Given the description of an element on the screen output the (x, y) to click on. 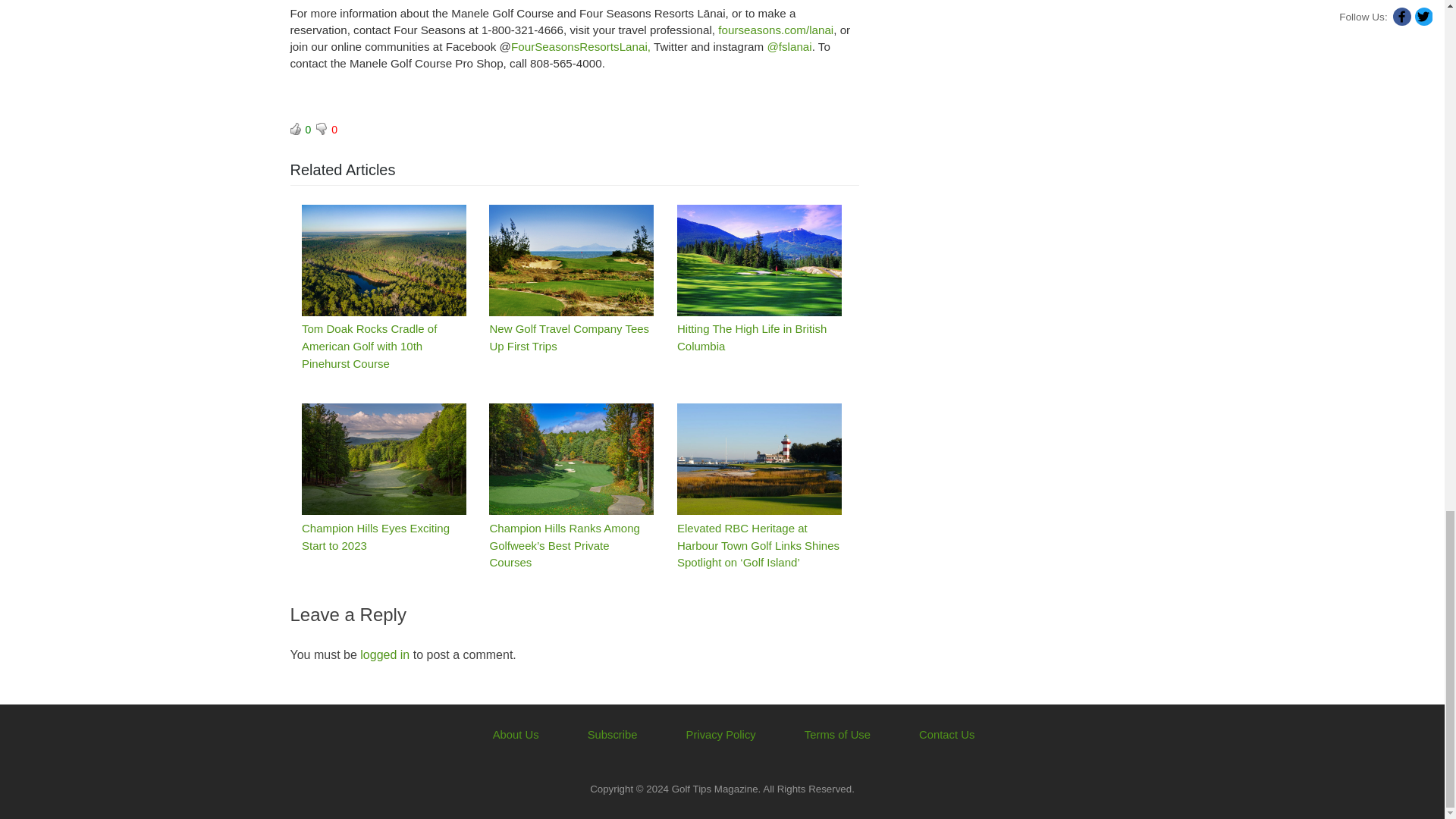
Champion Hills Eyes Exciting Start to 2023 (383, 459)
New Golf Travel Company Tees Up First Trips (571, 260)
Hitting The High Life in British Columbia (759, 260)
